Given the description of an element on the screen output the (x, y) to click on. 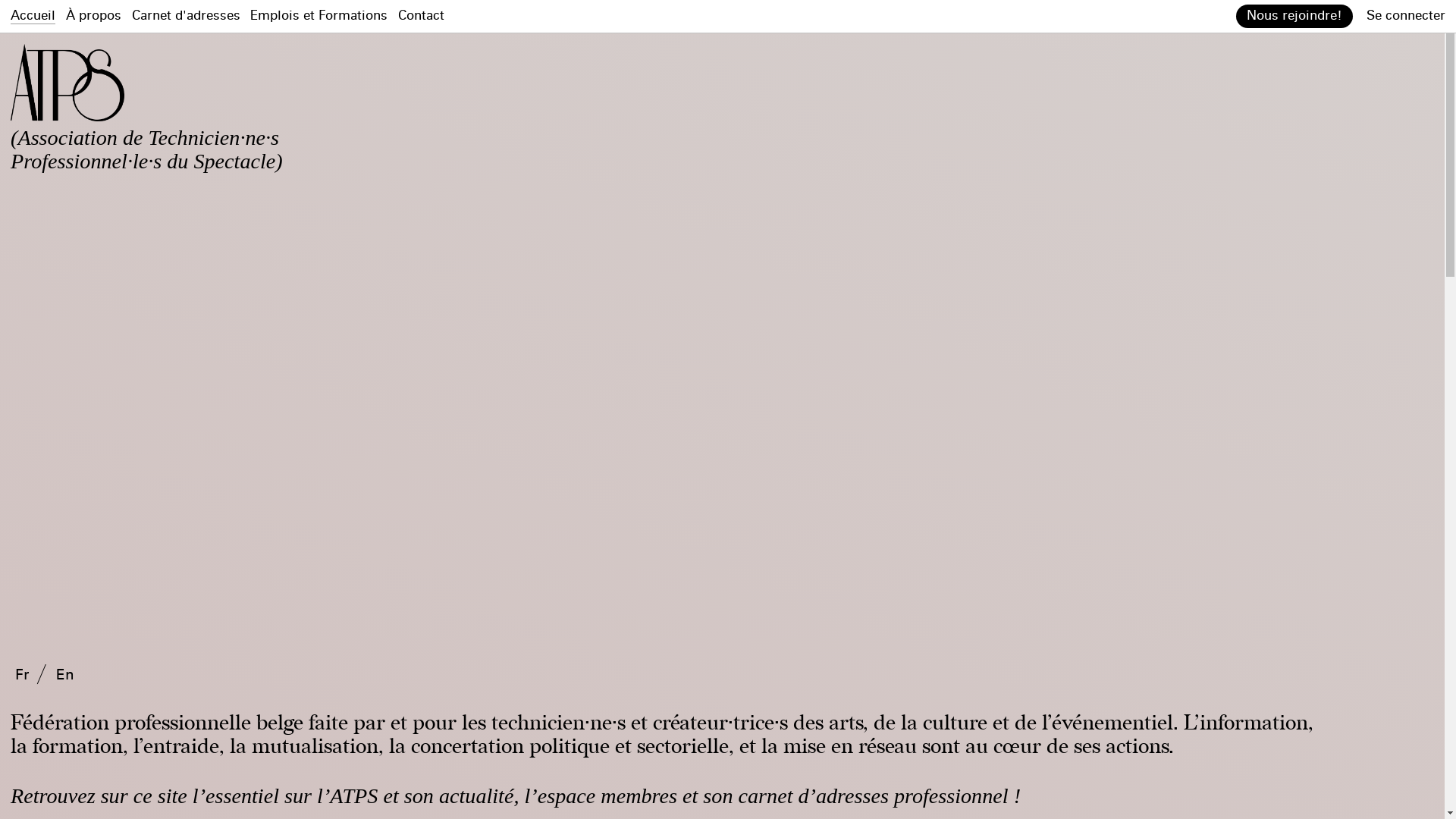
Carnet d'adresses Element type: text (185, 15)
Accueil Element type: text (32, 16)
Nous rejoindre! Element type: text (1294, 16)
Se connecter Element type: text (1405, 15)
Contact Element type: text (421, 15)
Fr Element type: text (21, 674)
En Element type: text (64, 674)
Emplois et Formations Element type: text (318, 15)
